Given the description of an element on the screen output the (x, y) to click on. 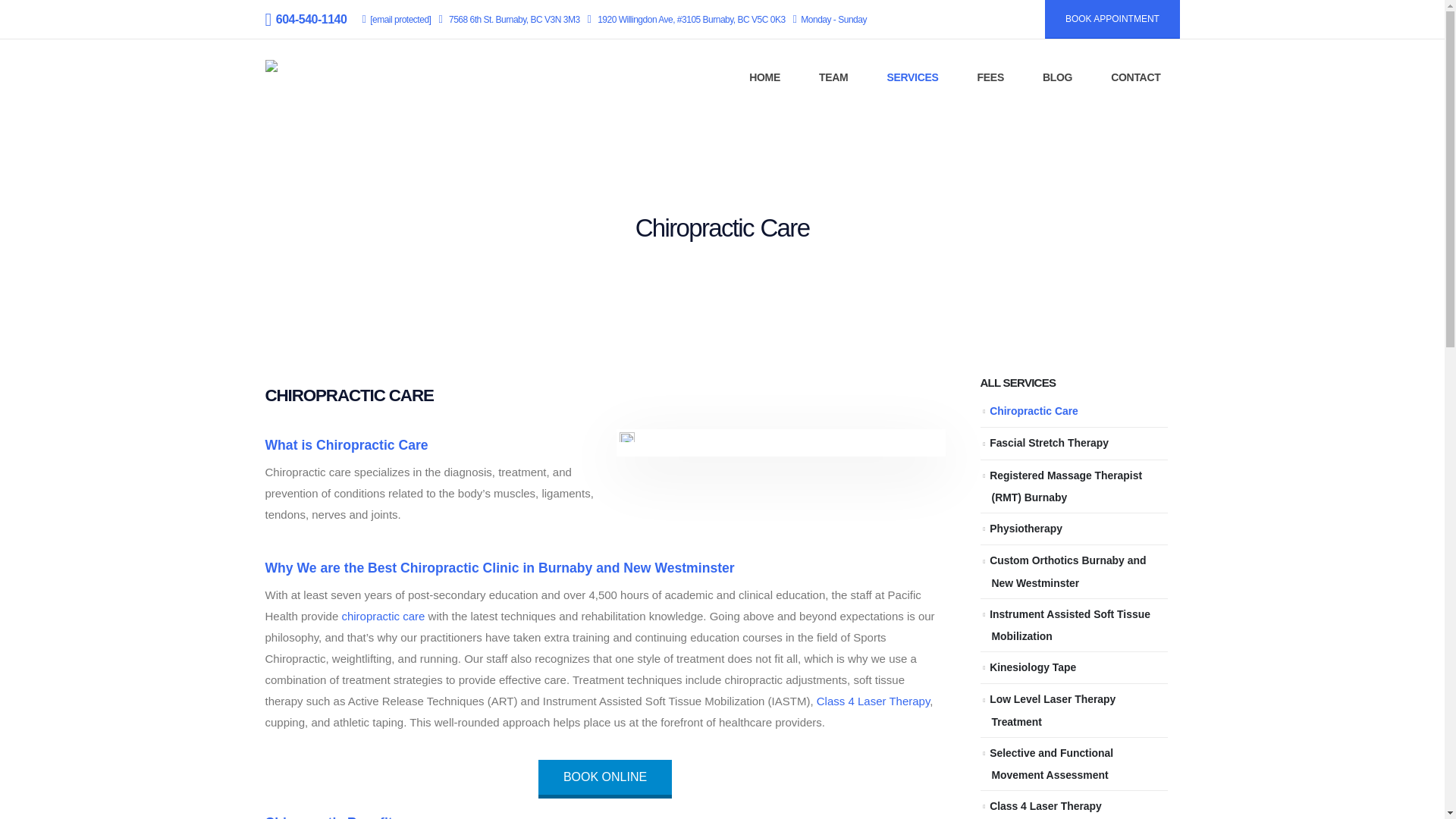
CONTACT (1135, 77)
FEES (990, 77)
Pacific Health Brentwood Mall (690, 19)
BLOG (1056, 77)
BOOK APPOINTMENT (1112, 19)
Chiropractic-Care (627, 437)
Go to Home Page (663, 267)
SERVICES (911, 77)
Pacific Health 6th Street (513, 19)
7568 6th St. Burnaby, BC V3N 3M3 (513, 19)
Book Online (604, 777)
604-540-1140 (309, 19)
TEAM (832, 77)
HOME (764, 77)
